Given the description of an element on the screen output the (x, y) to click on. 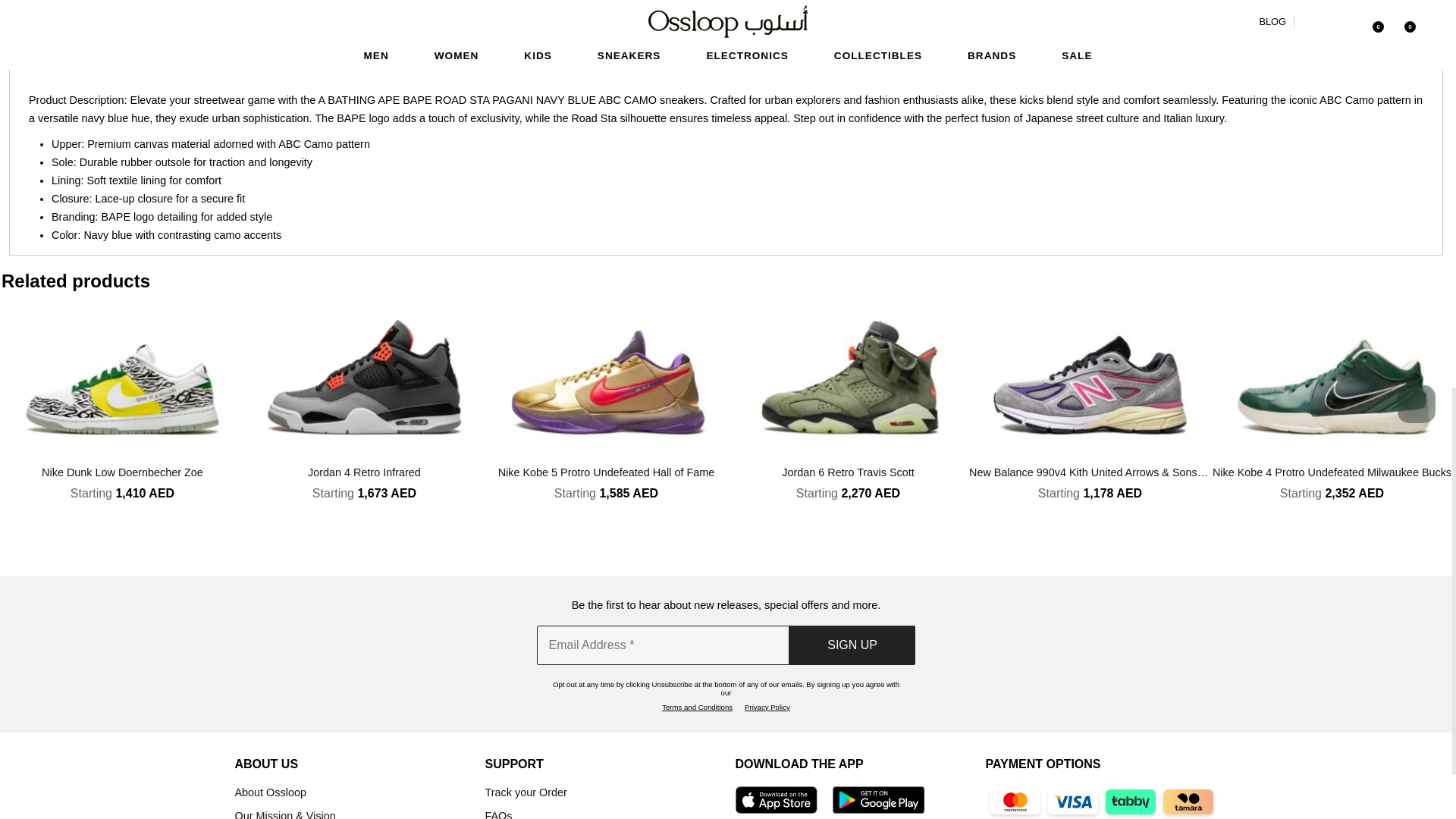
Share via Email (1334, 3)
Download from App Store (775, 800)
Download from Play Store (878, 800)
Share via Whatsapp (1242, 3)
Share on Pinterest (1197, 3)
Share on Facebook (1060, 3)
Share on LinkedIn (1152, 3)
Share via Telegram (1287, 3)
Share on Twitter (1105, 3)
